Given the description of an element on the screen output the (x, y) to click on. 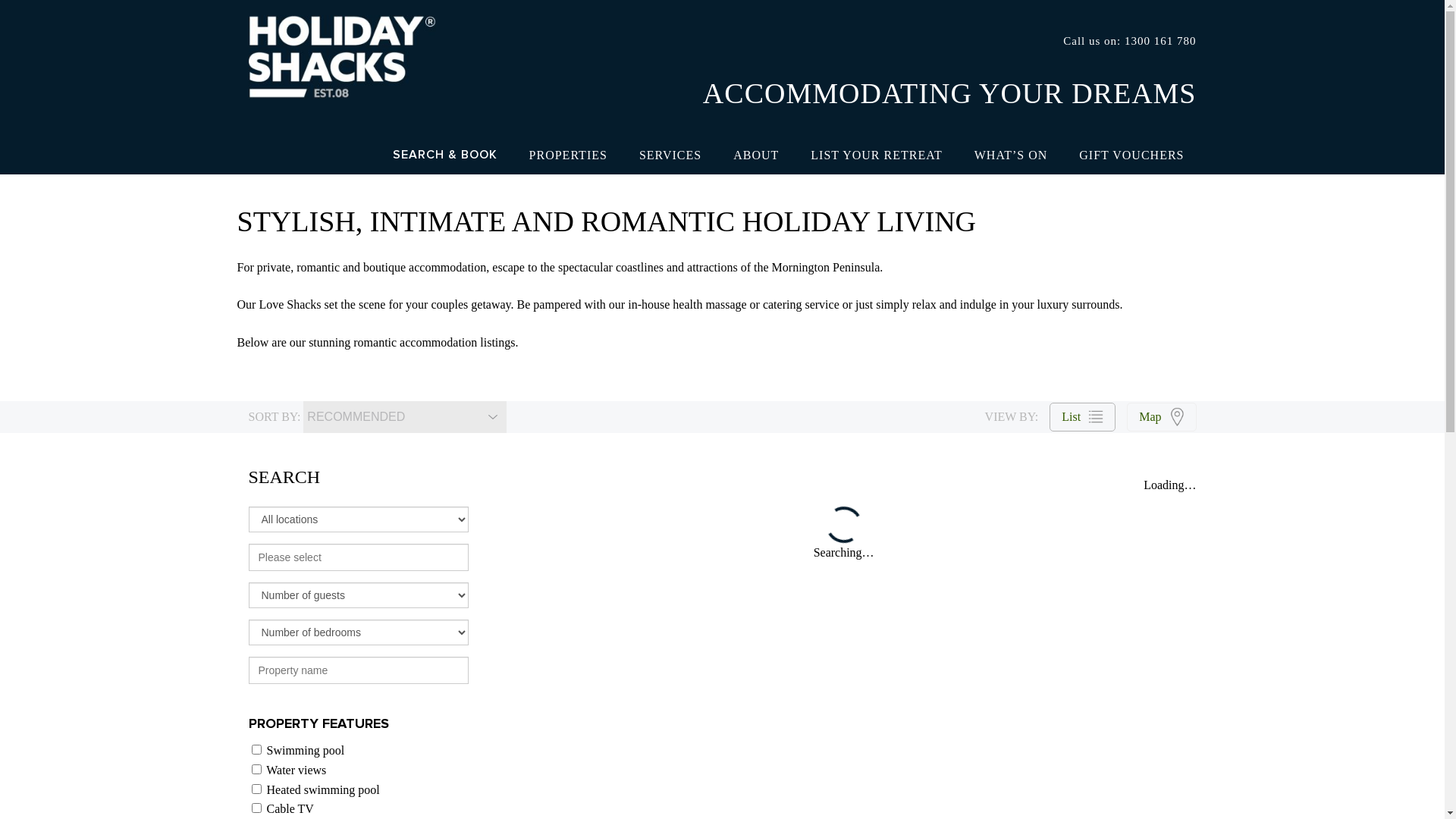
PROPERTIES Element type: text (568, 155)
GIFT VOUCHERS Element type: text (1130, 155)
Map Element type: text (1160, 416)
SEARCH & BOOK Element type: text (444, 155)
Call us on: 1300 161 780 Element type: text (1129, 40)
SERVICES Element type: text (670, 155)
ABOUT Element type: text (755, 155)
LIST YOUR RETREAT Element type: text (875, 155)
List Element type: text (1082, 416)
